Given the description of an element on the screen output the (x, y) to click on. 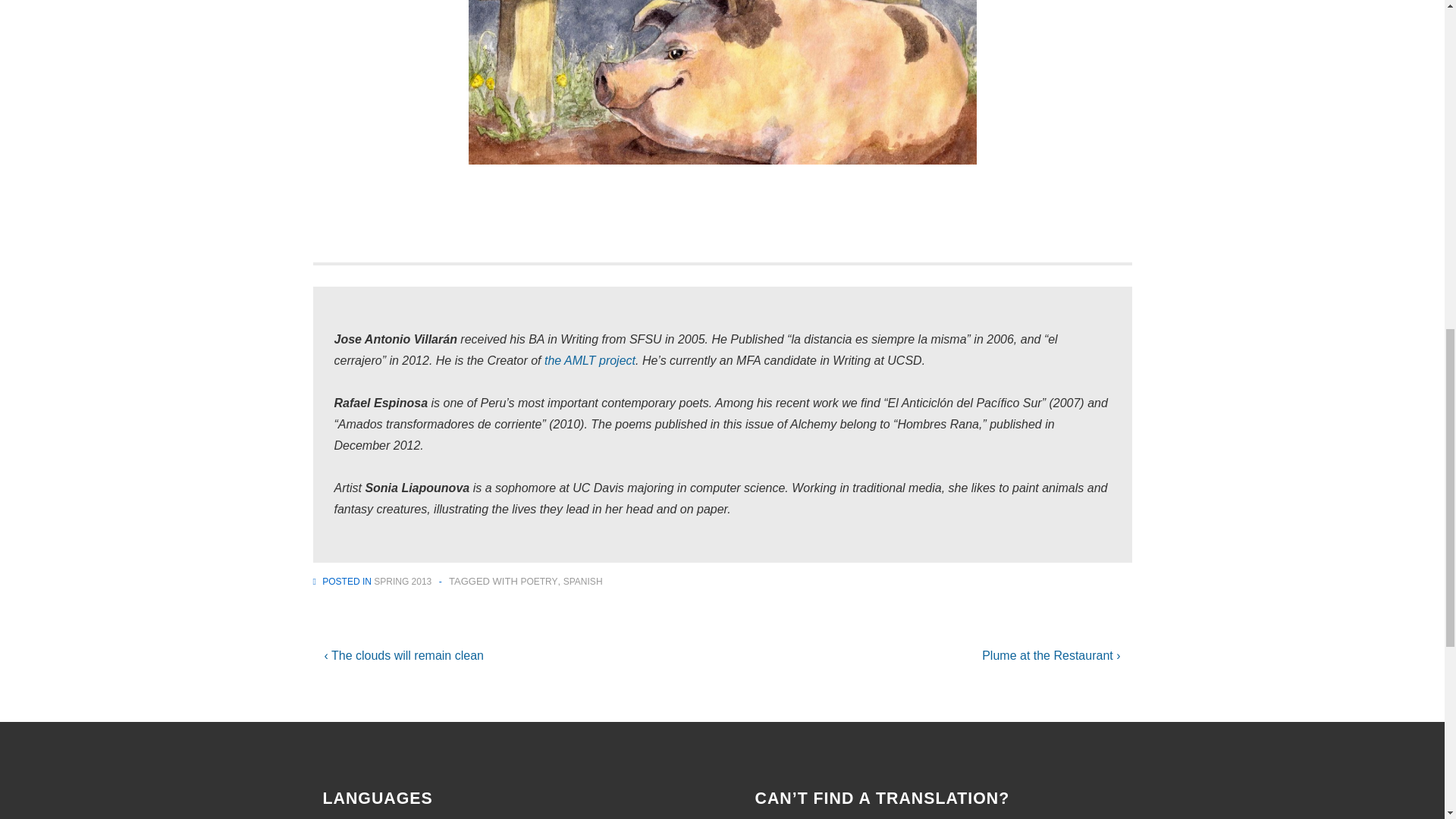
POETRY (538, 581)
SPRING 2013 (402, 581)
the AMLT project (589, 359)
SPANISH (582, 581)
